Given the description of an element on the screen output the (x, y) to click on. 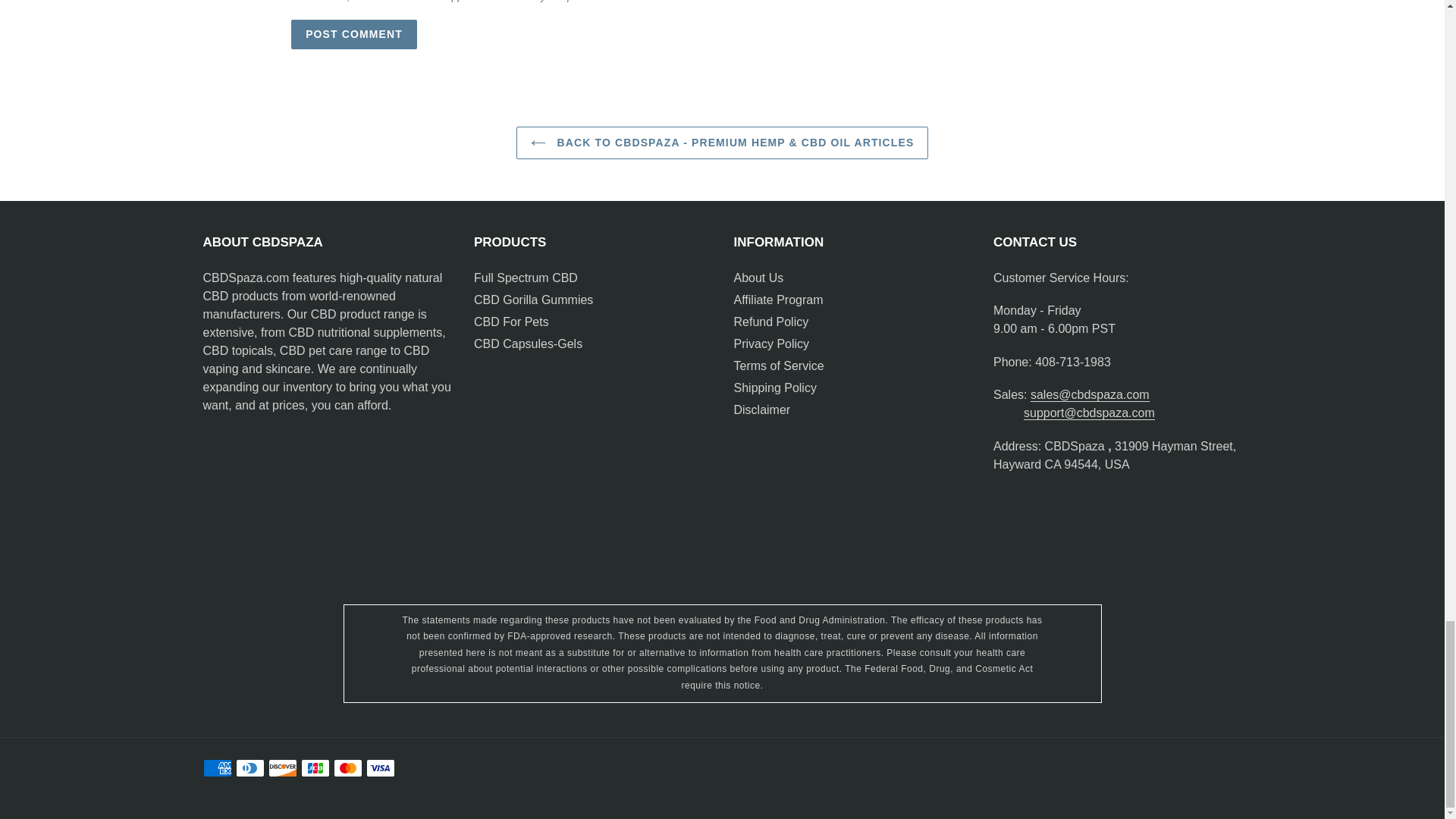
Post comment (353, 34)
